Given the description of an element on the screen output the (x, y) to click on. 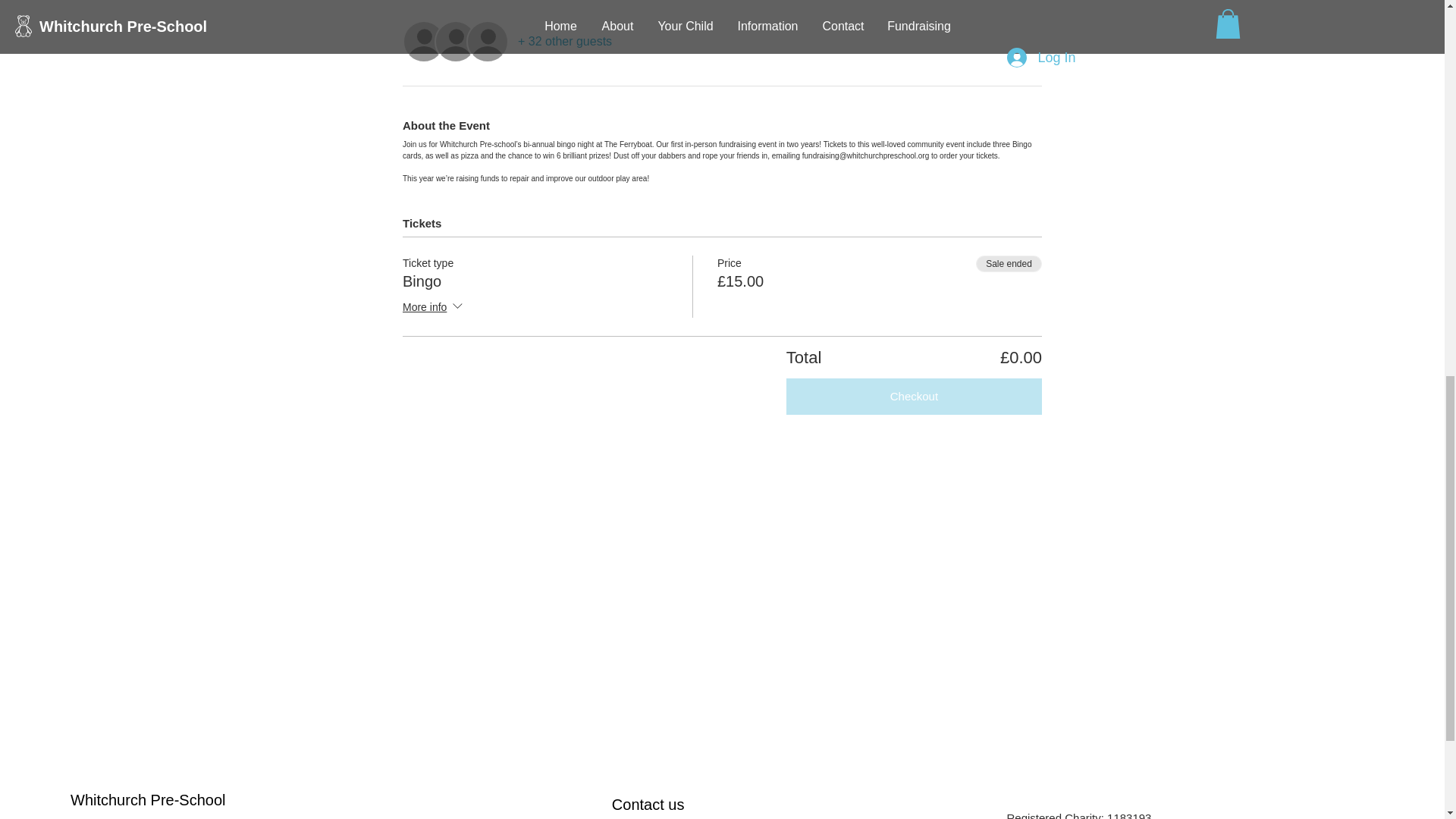
More info (434, 307)
Checkout (914, 396)
